Given the description of an element on the screen output the (x, y) to click on. 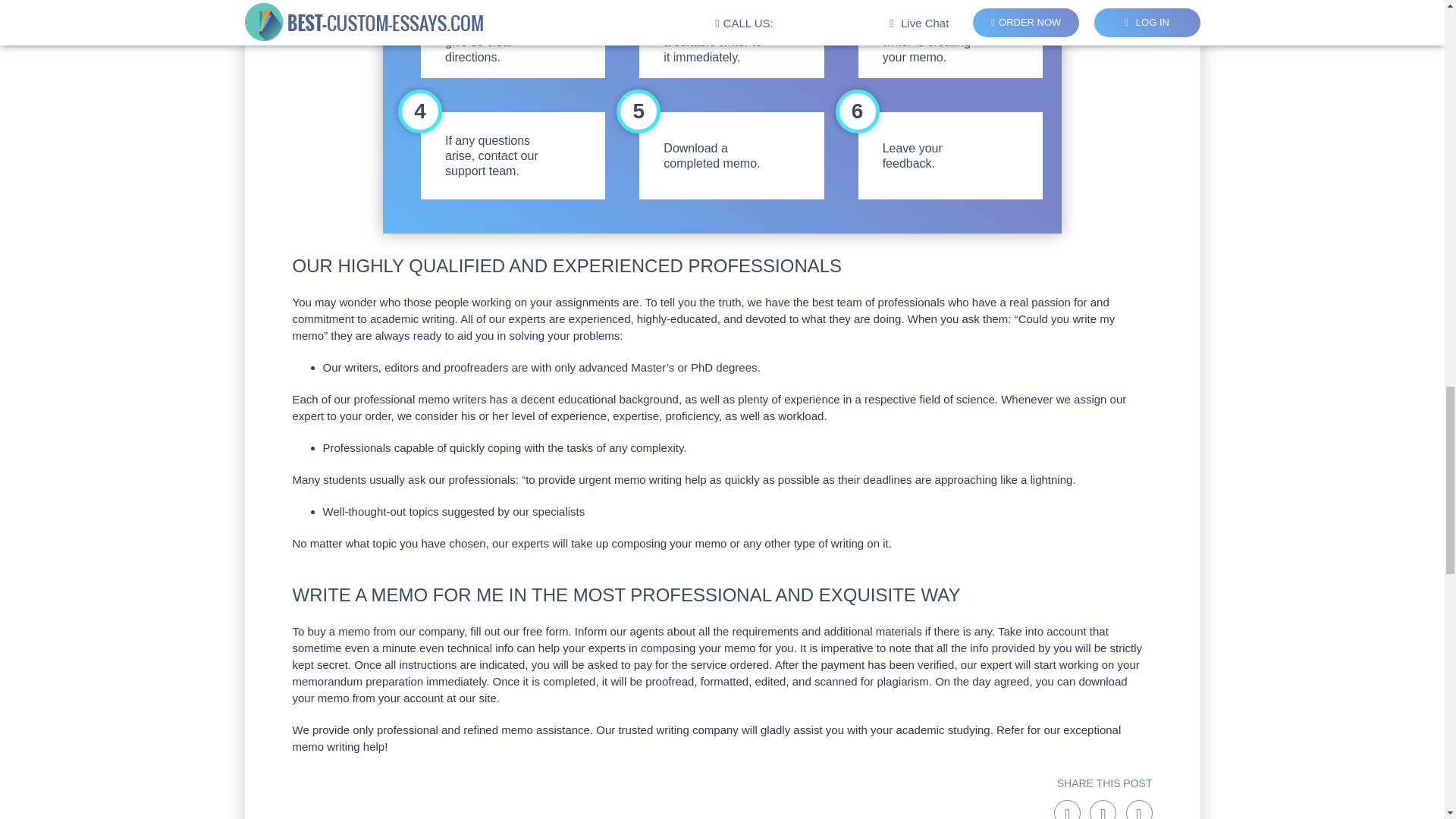
Share on Twitter (1102, 809)
Share on Facebook (1067, 809)
Share on Pinterest (1138, 809)
